Given the description of an element on the screen output the (x, y) to click on. 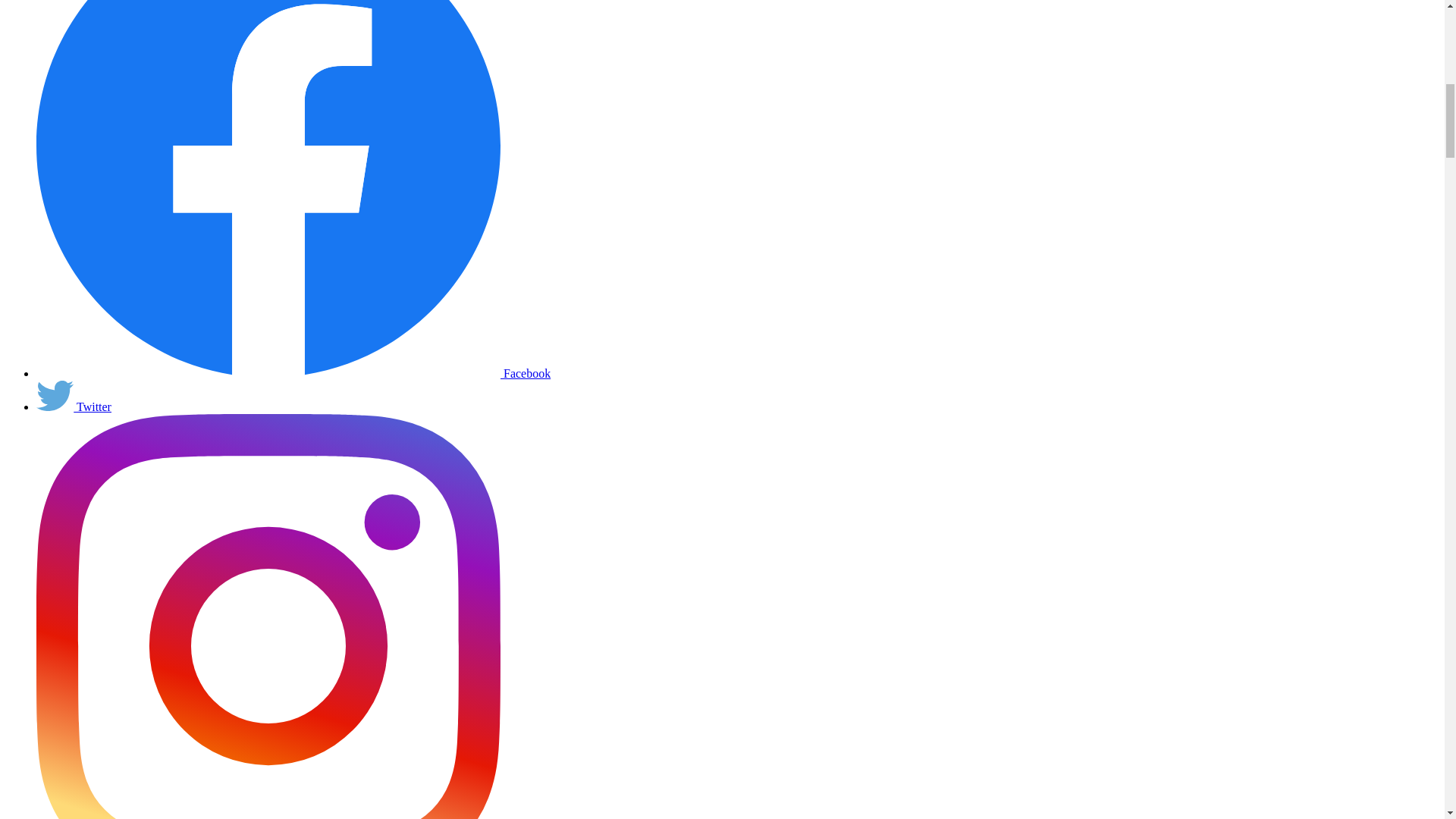
Twitter (55, 395)
Facebook (293, 373)
Twitter (74, 406)
